Given the description of an element on the screen output the (x, y) to click on. 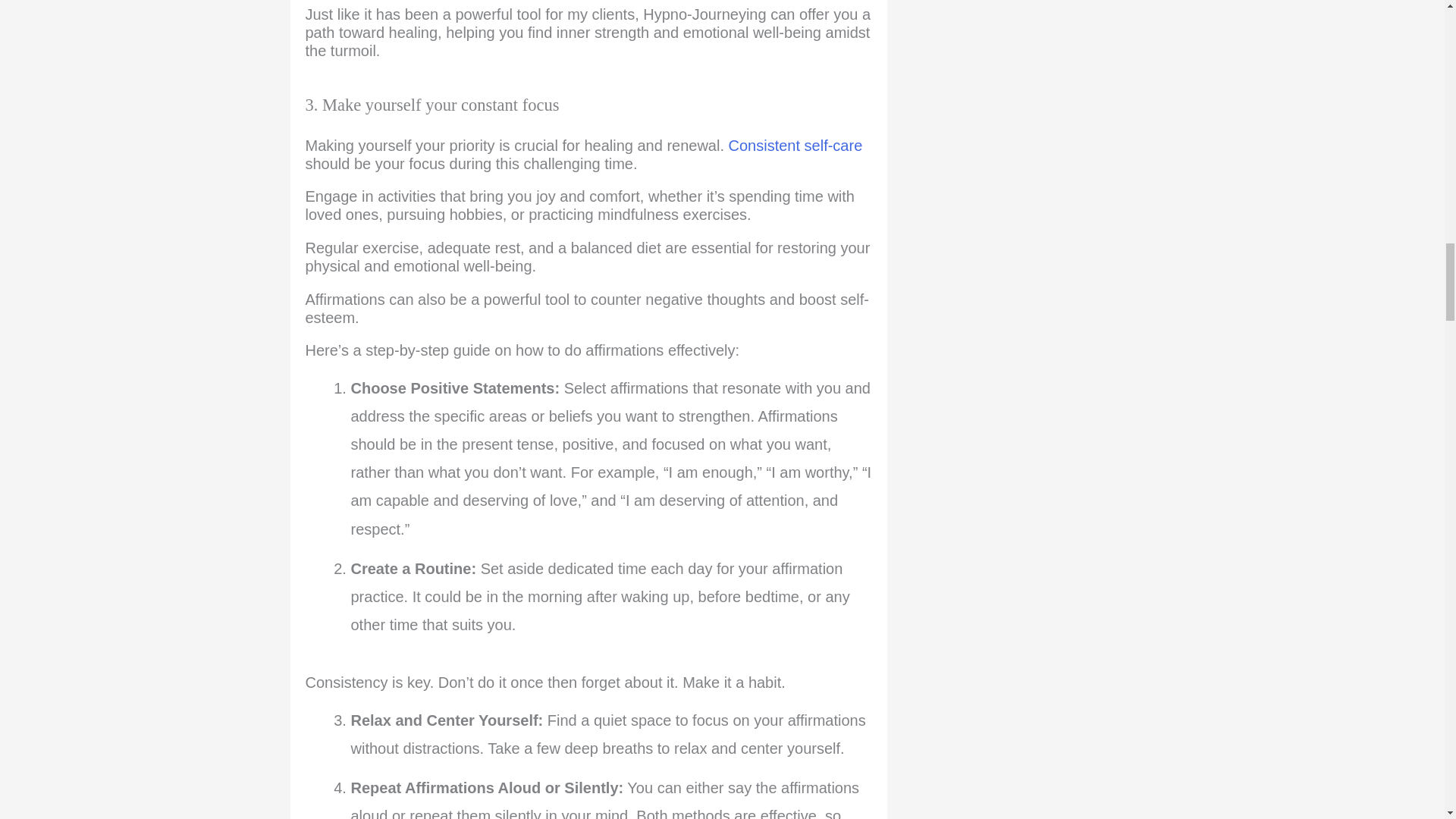
Consistent self-care (796, 145)
